Given the description of an element on the screen output the (x, y) to click on. 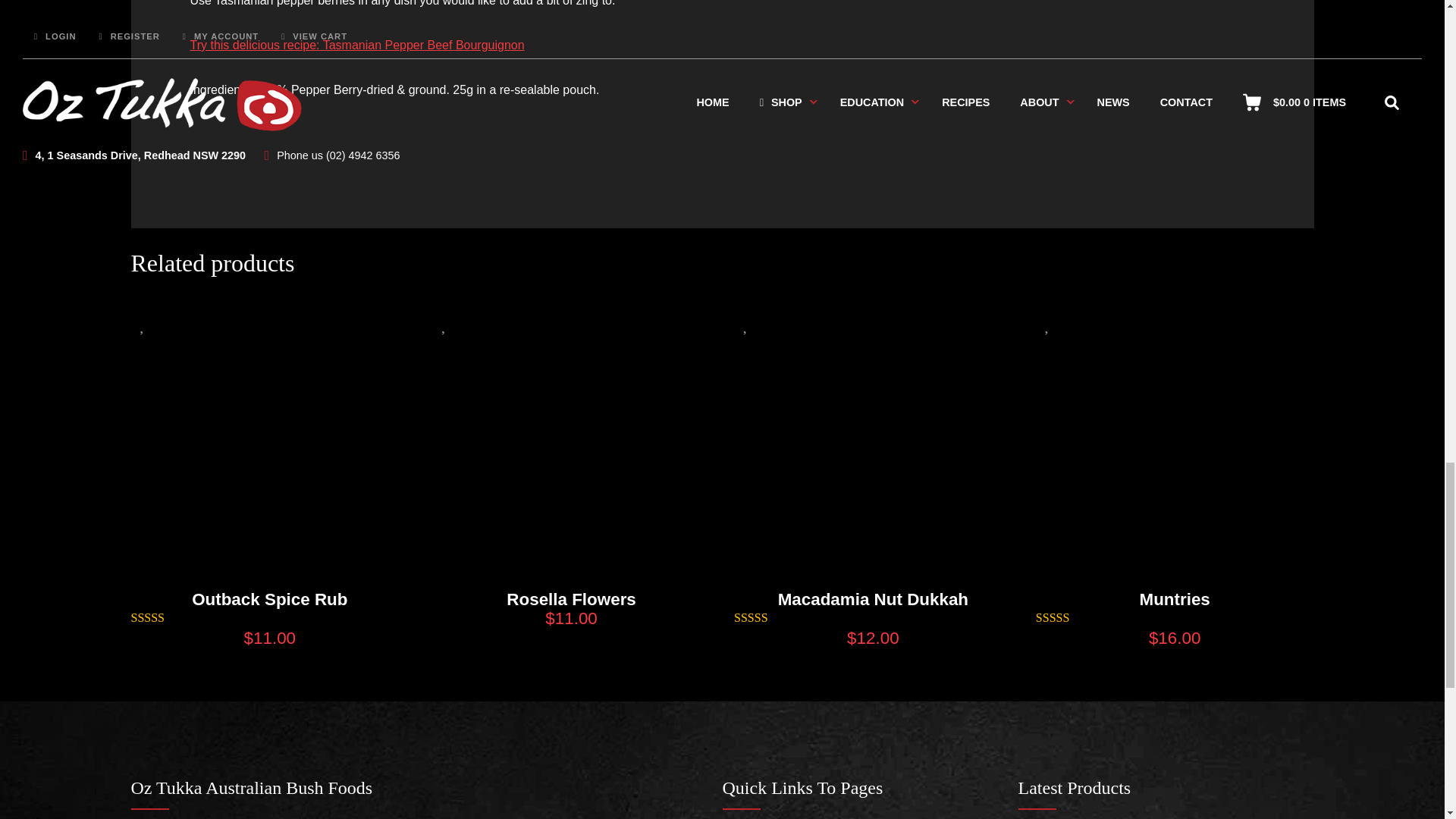
Tasmanian Pepper Beef Bourguignon (356, 44)
